Given the description of an element on the screen output the (x, y) to click on. 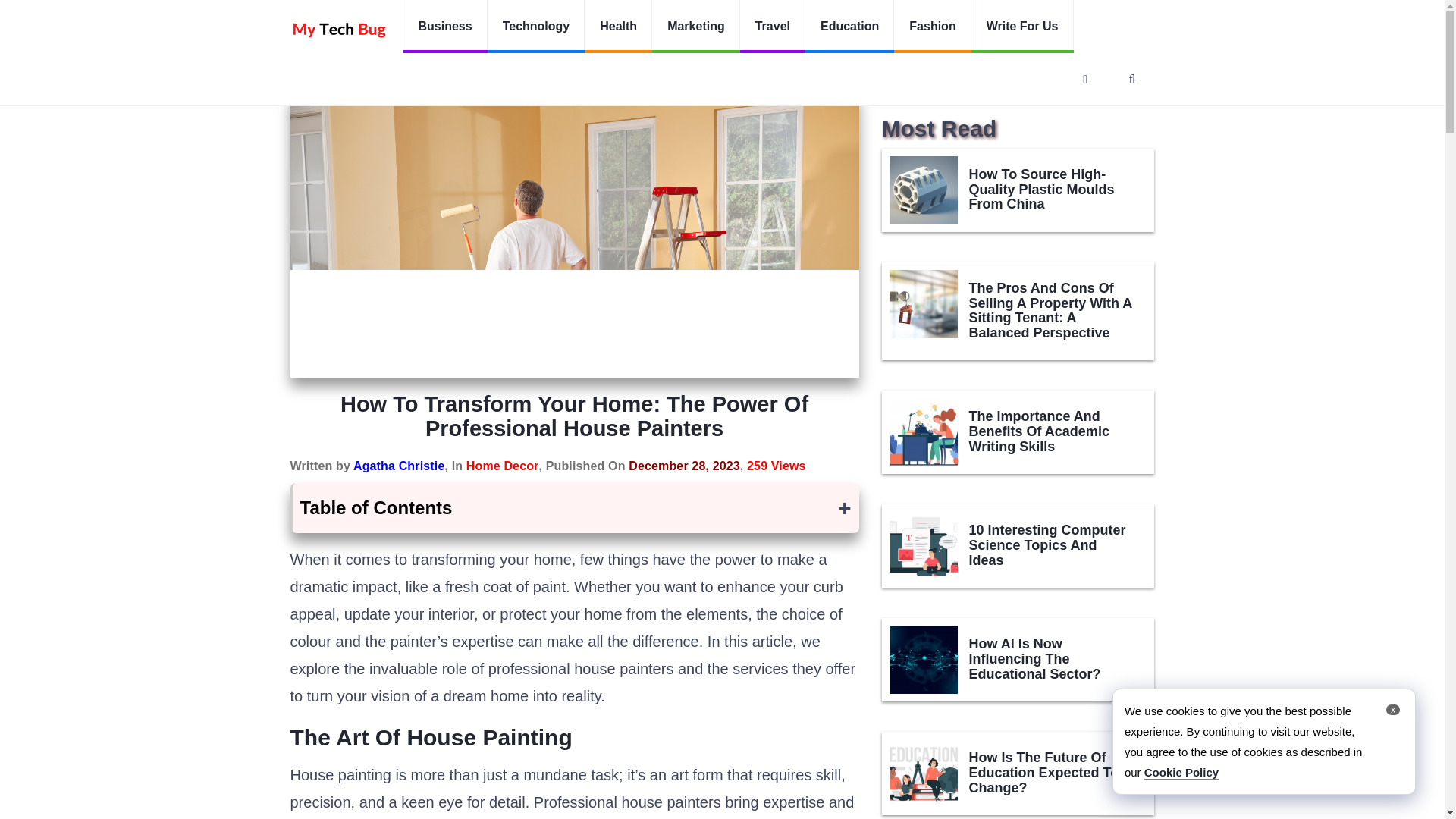
How AI Is Now Influencing The Educational Sector? (922, 659)
Travel (772, 26)
The Importance and Benefits of Academic Writing Skills (922, 432)
Cookie Policy (1181, 772)
Write For Us (1022, 26)
Marketing (695, 26)
Home (303, 72)
x (1392, 709)
